Given the description of an element on the screen output the (x, y) to click on. 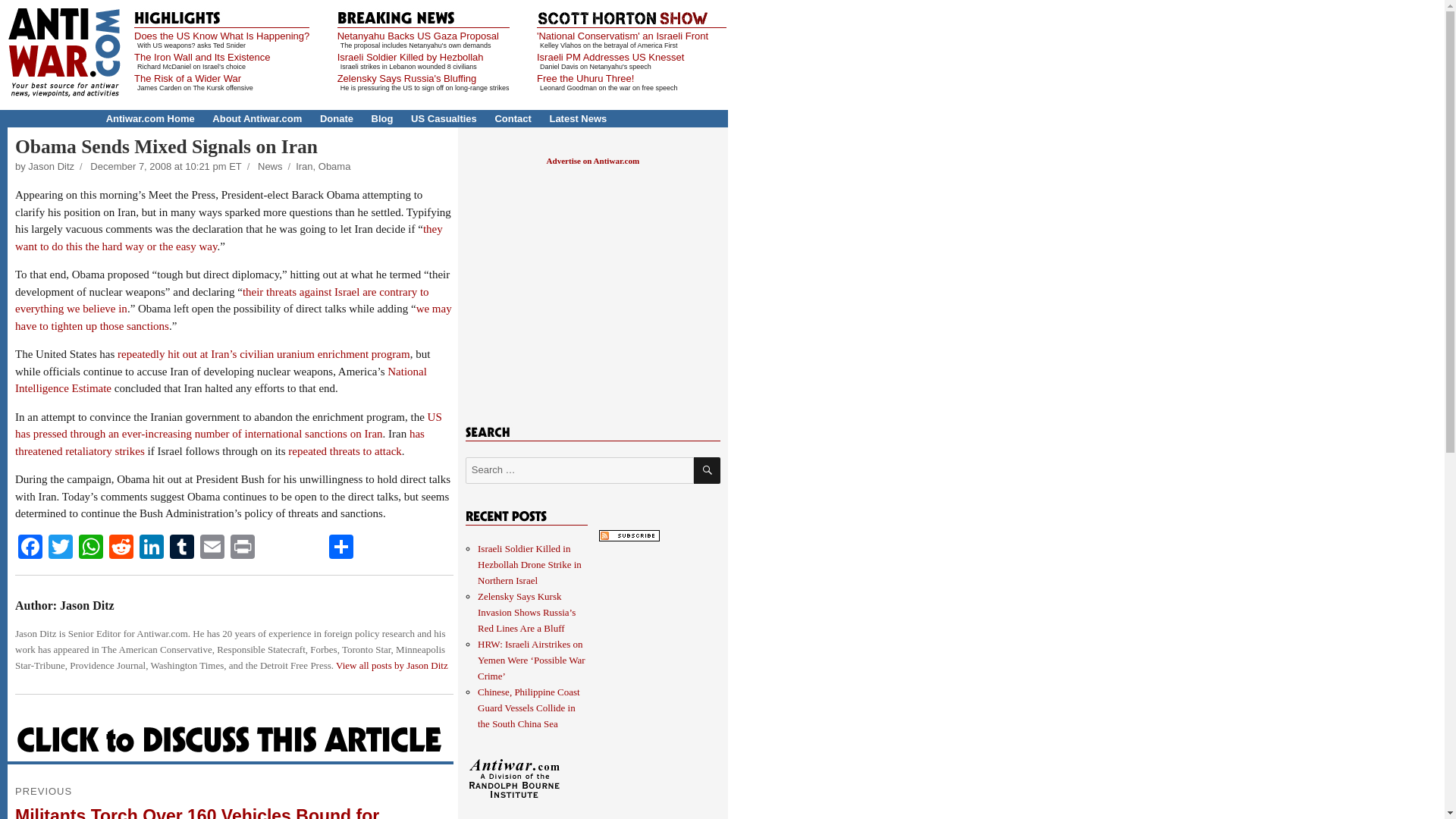
Twitter (60, 548)
LinkedIn (151, 548)
National Intelligence Estimate (220, 379)
The Risk of a Wider War (187, 78)
US Casualties (443, 118)
Free the Uhuru Three! (585, 78)
we may have to tighten up those sanctions (232, 317)
News (269, 165)
Israeli PM Addresses US Knesset (610, 57)
Netanyahu Backs US Gaza Proposal (418, 35)
